Given the description of an element on the screen output the (x, y) to click on. 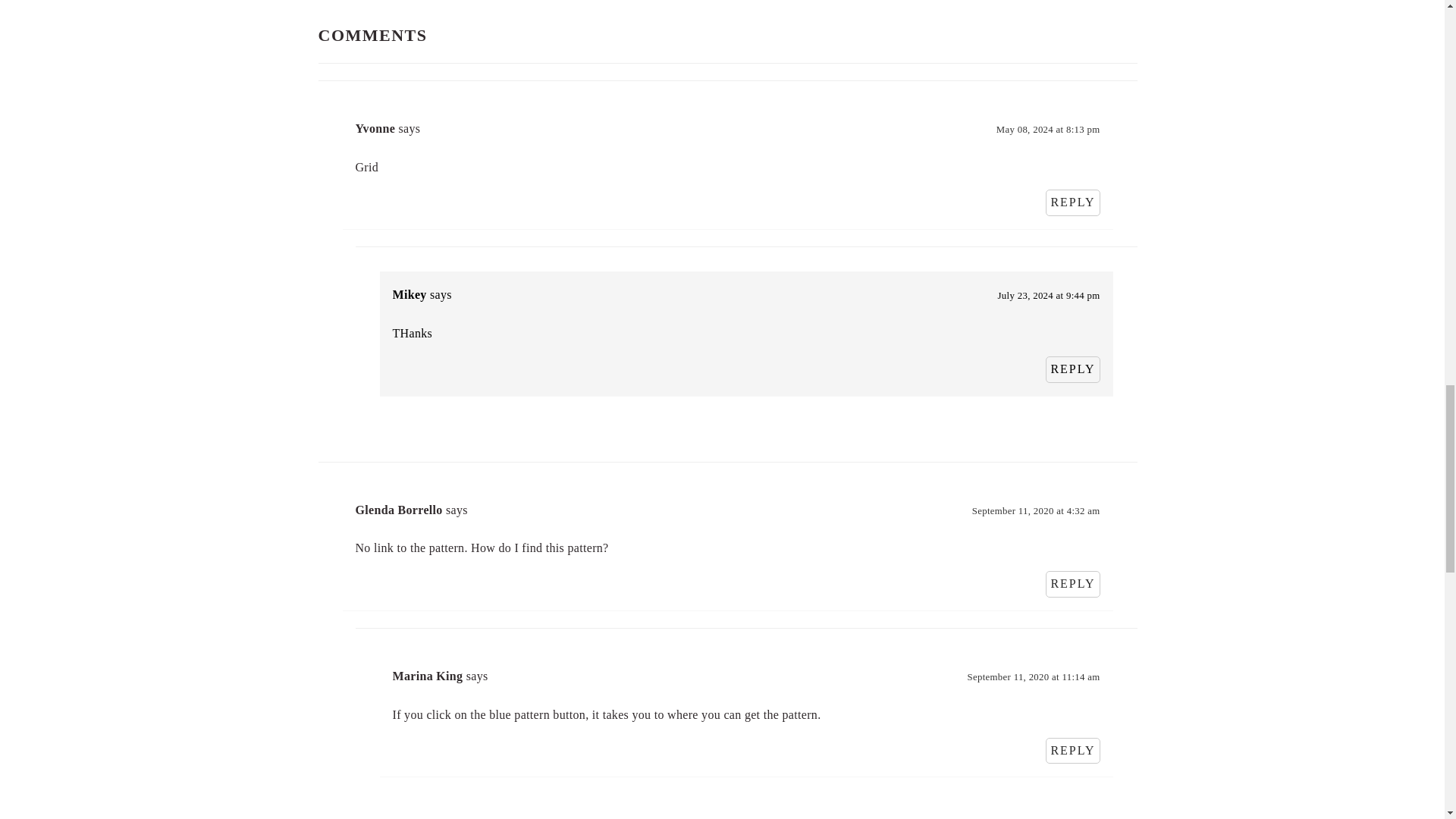
REPLY (1072, 202)
REPLY (1072, 583)
REPLY (1072, 369)
REPLY (1072, 750)
